Given the description of an element on the screen output the (x, y) to click on. 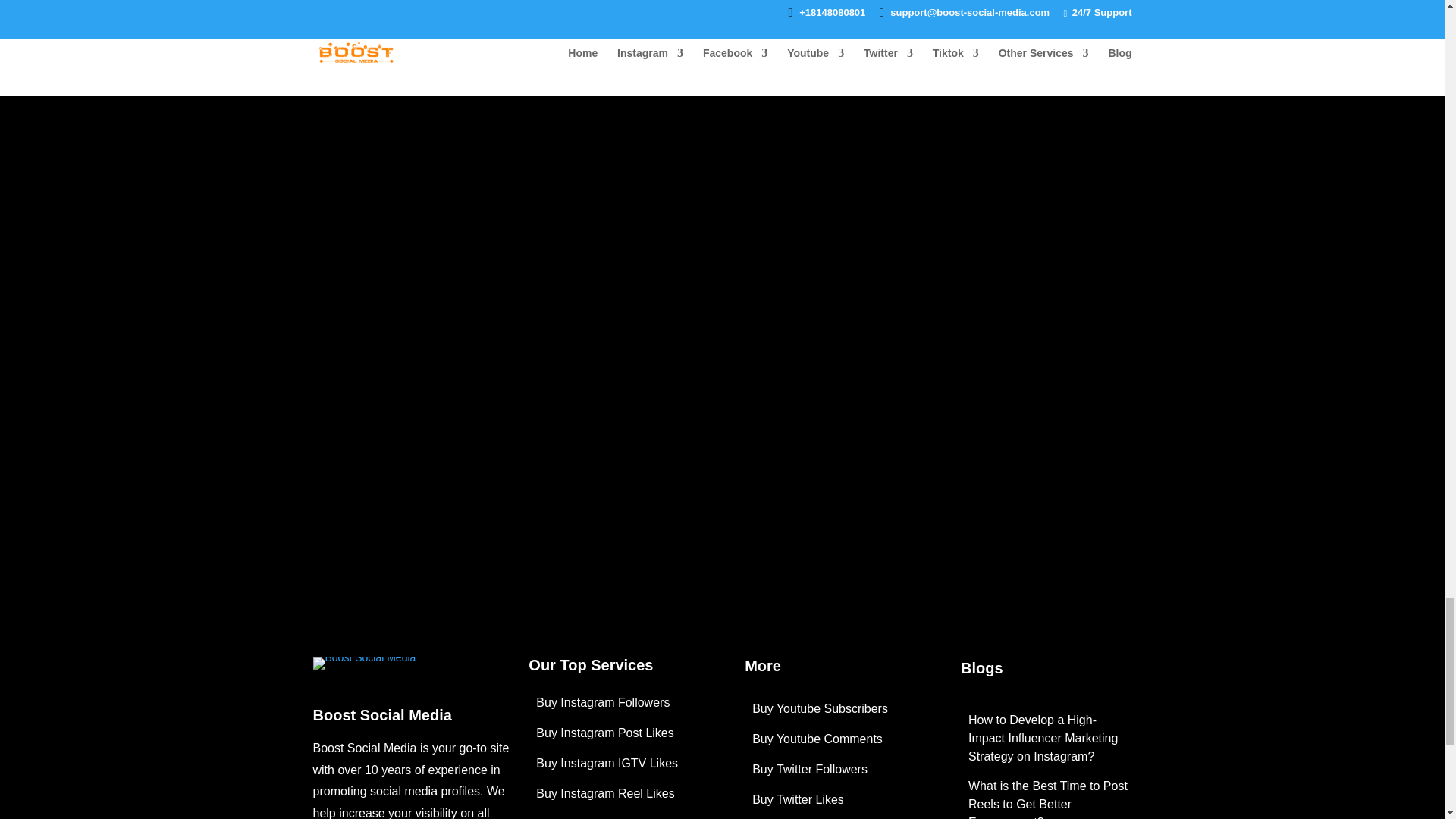
BSM Logo (363, 669)
